Given the description of an element on the screen output the (x, y) to click on. 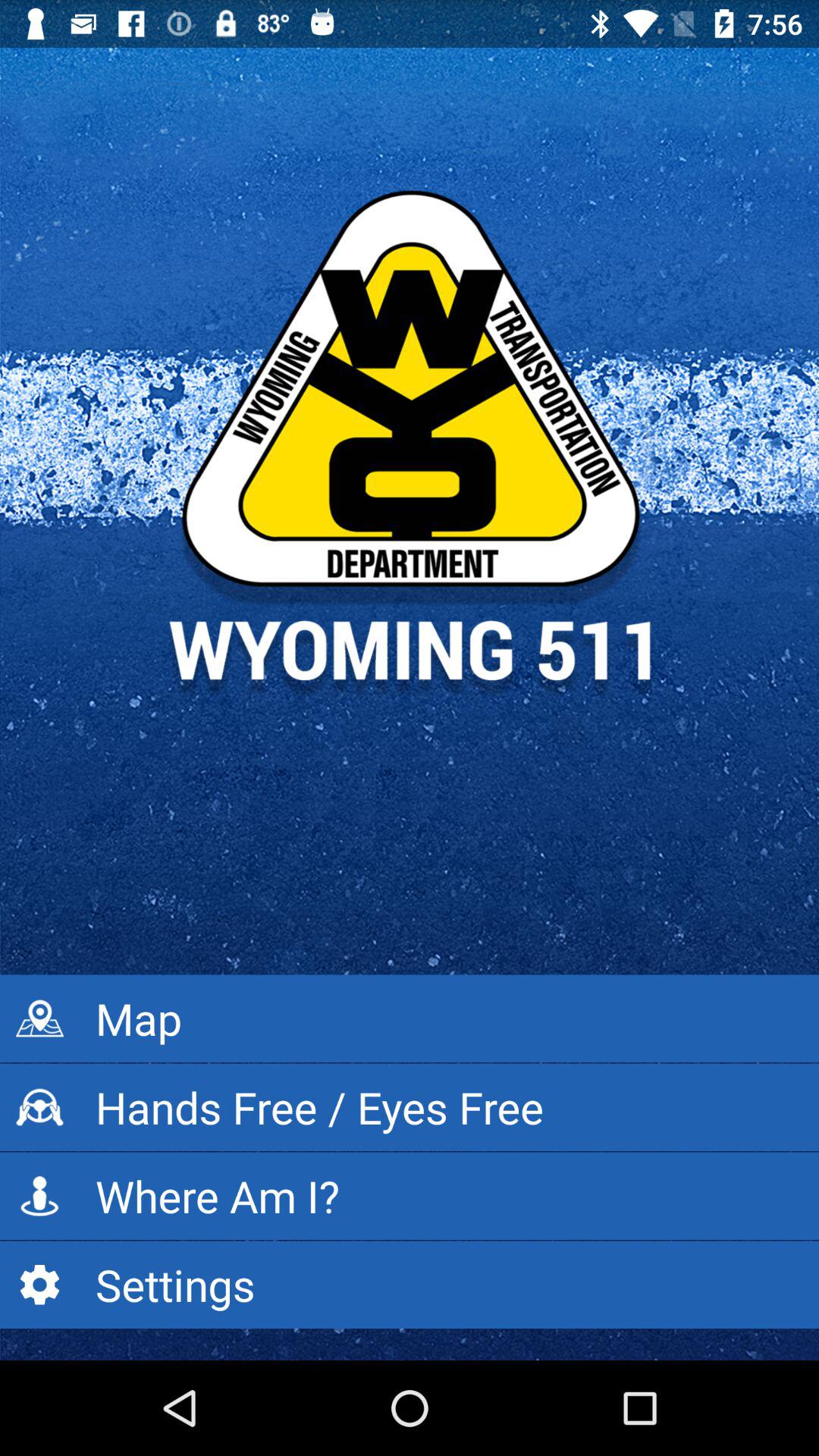
choose the where am i? icon (409, 1195)
